Given the description of an element on the screen output the (x, y) to click on. 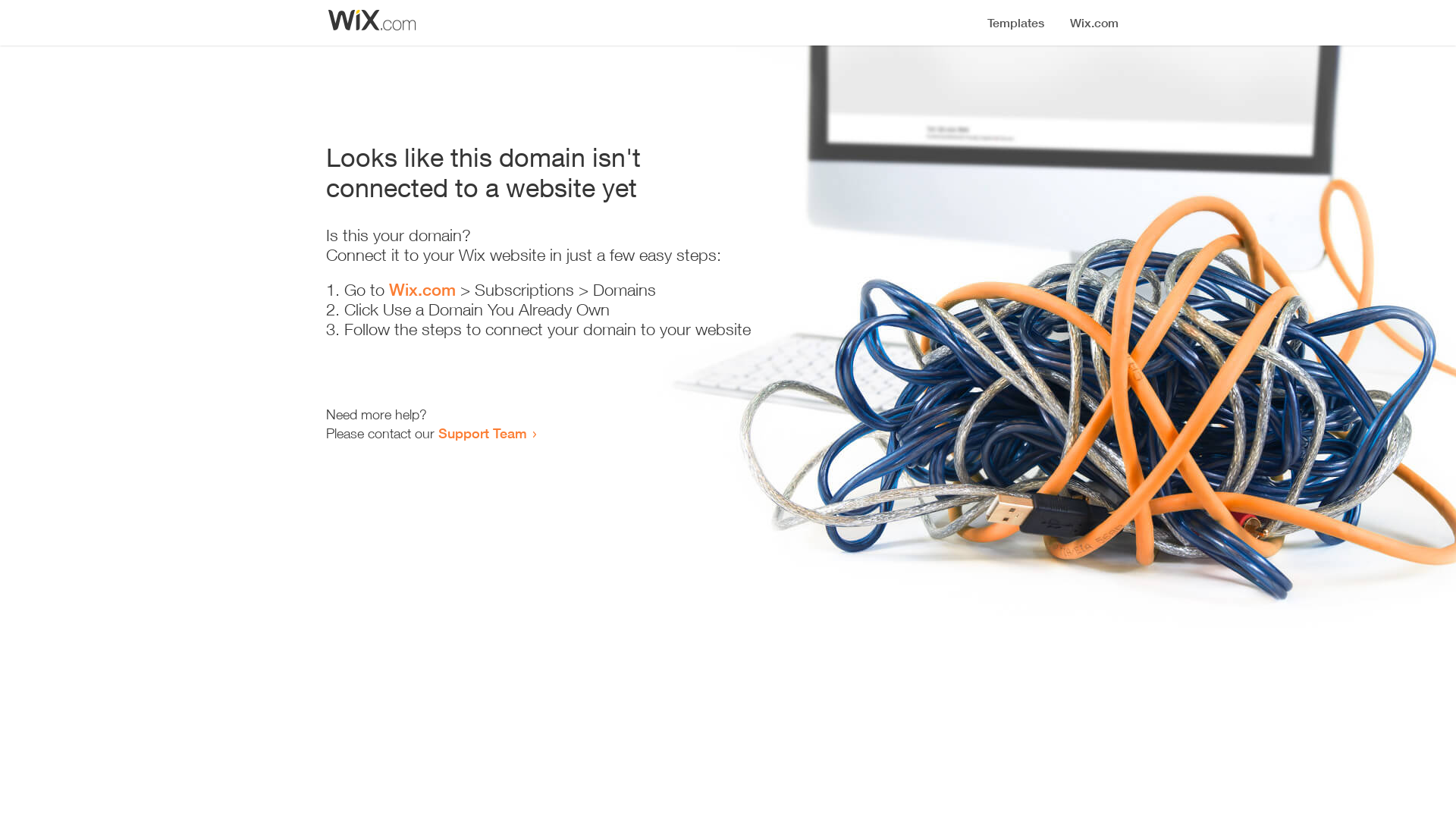
Support Team Element type: text (482, 432)
Wix.com Element type: text (422, 289)
